Given the description of an element on the screen output the (x, y) to click on. 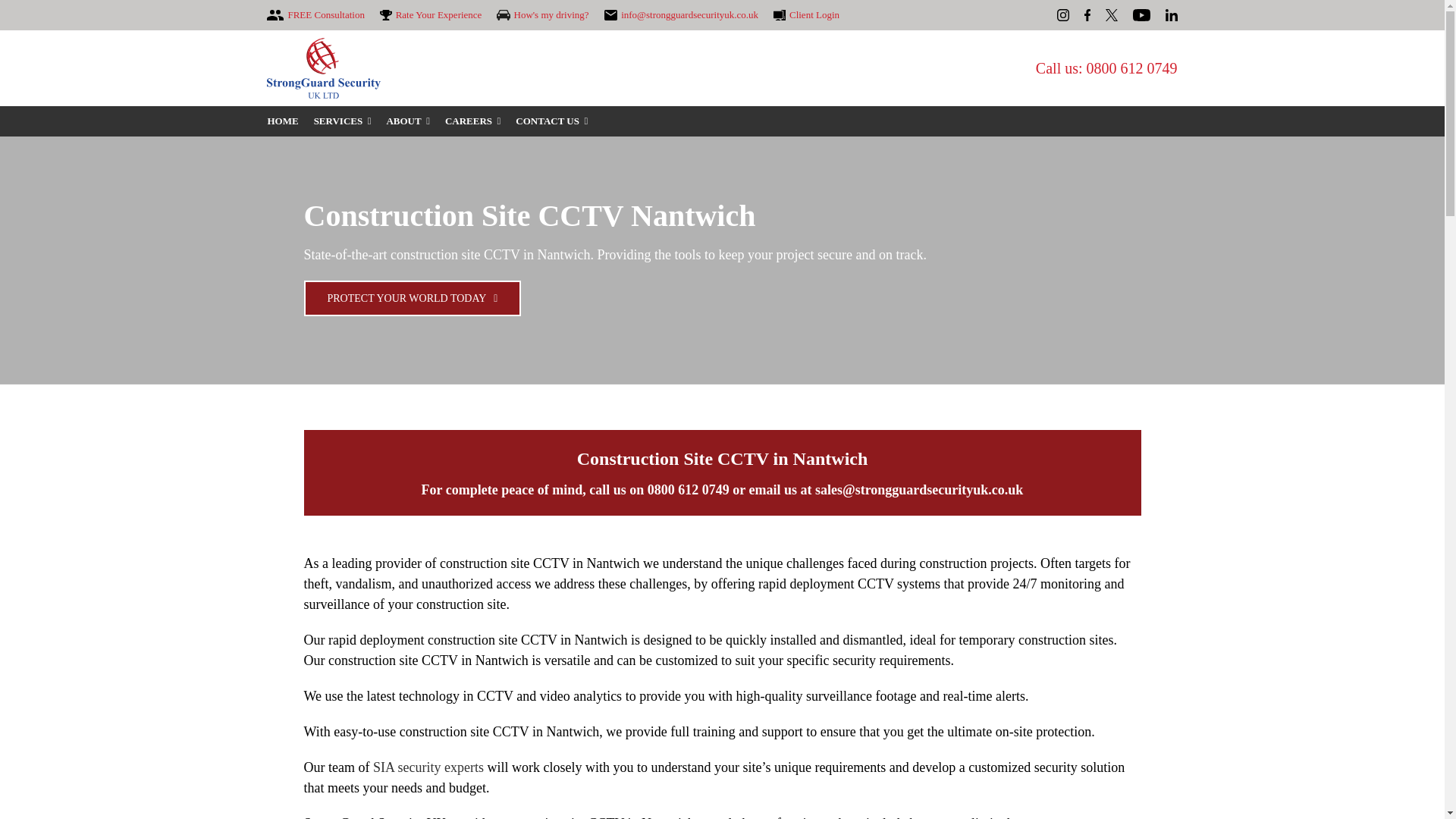
Client Login (806, 14)
How's my driving? (542, 14)
FREE Consultation (315, 14)
Rate Your Experience (430, 14)
Call us: 0800 612 0749 (1106, 67)
